Given the description of an element on the screen output the (x, y) to click on. 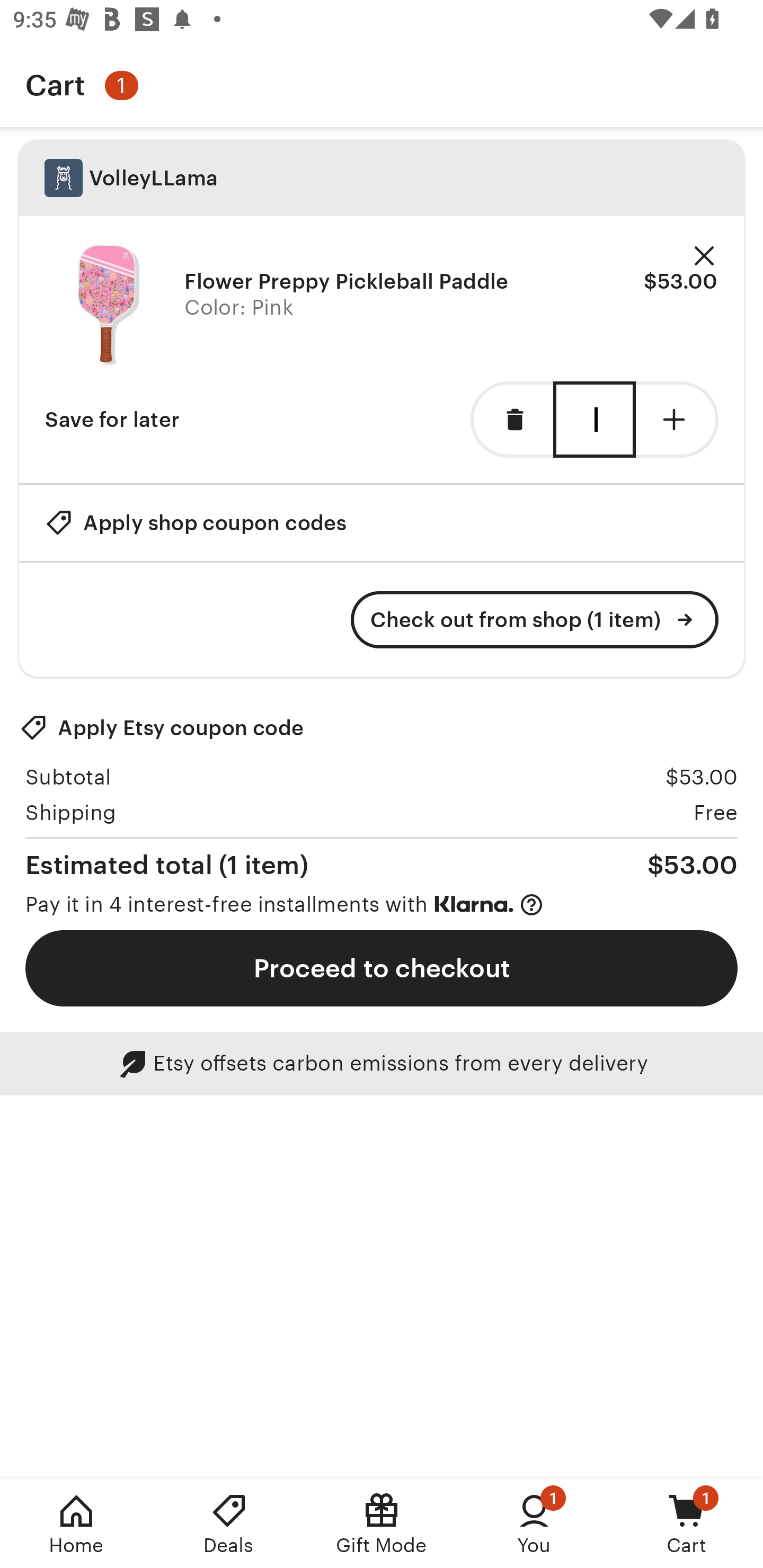
VolleyLLama (381, 177)
Remove (704, 255)
Flower Preppy Pickleball Paddle (107, 304)
Flower Preppy Pickleball Paddle (346, 281)
Save for later (112, 419)
Remove item from cart (511, 419)
Add one unit to cart (676, 419)
Apply shop coupon codes (195, 522)
Check out from shop (1 item) (534, 619)
Apply Etsy coupon code (161, 727)
Proceed to checkout (381, 967)
Home (76, 1523)
Deals (228, 1523)
Gift Mode (381, 1523)
You, 1 new notification You (533, 1523)
